Given the description of an element on the screen output the (x, y) to click on. 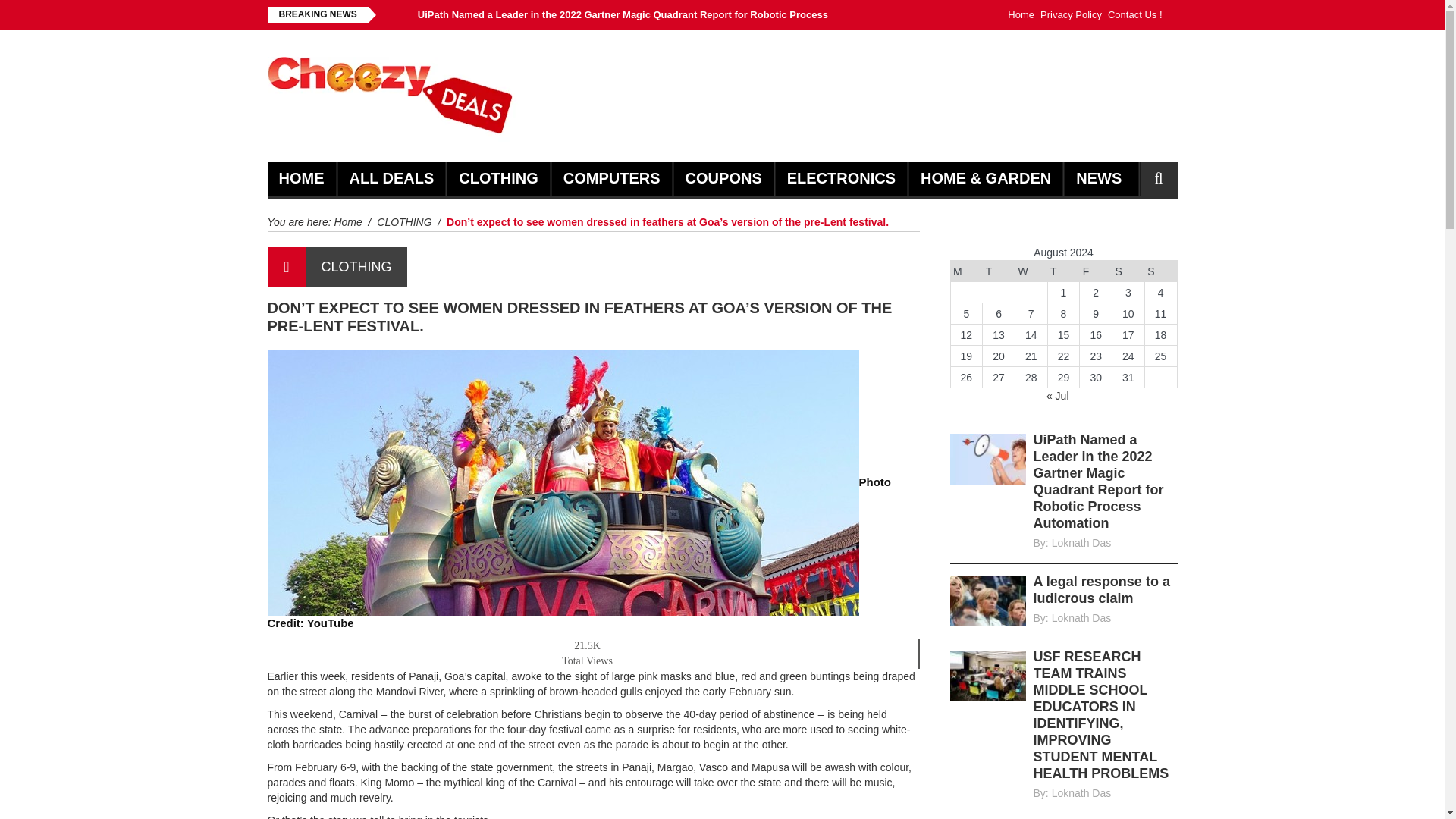
Thursday (1063, 271)
Posts by Loknath Das (1081, 542)
Friday (1096, 271)
Monday (966, 271)
ELECTRONICS (841, 178)
Wednesday (1030, 271)
HOME (301, 178)
Saturday (1128, 271)
Privacy Policy (1071, 15)
CLOTHING (356, 267)
Sunday (1160, 271)
CLOTHING (497, 178)
Home (347, 222)
Posts by Loknath Das (1081, 793)
